Given the description of an element on the screen output the (x, y) to click on. 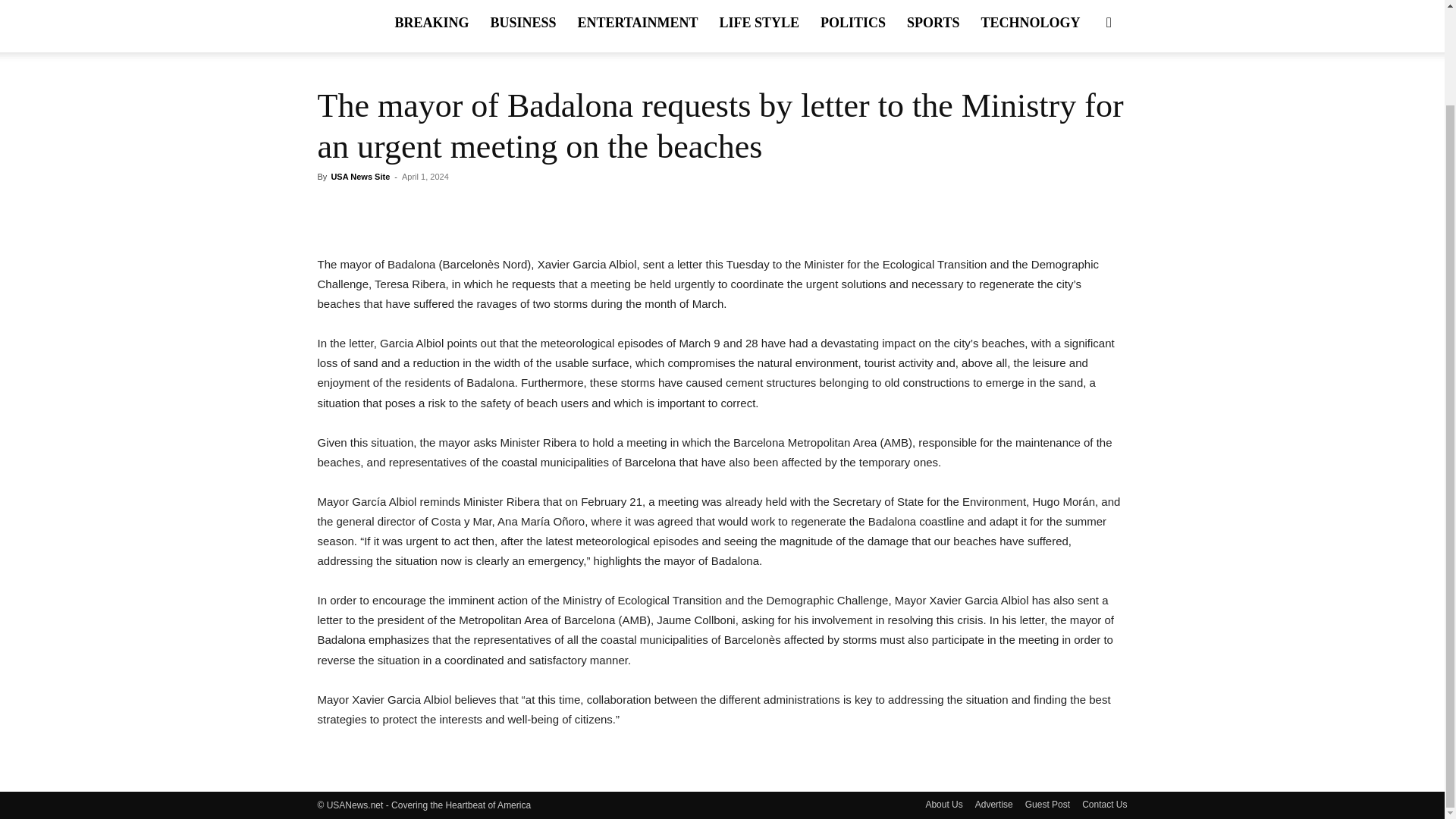
BUSINESS (522, 26)
About Us (943, 804)
POLITICS (852, 26)
Guest Post (1047, 804)
USA News Site (360, 175)
TECHNOLOGY (1029, 26)
Advertise (994, 804)
ENTERTAINMENT (636, 26)
LIFE STYLE (758, 26)
Contact Us (1103, 804)
